Given the description of an element on the screen output the (x, y) to click on. 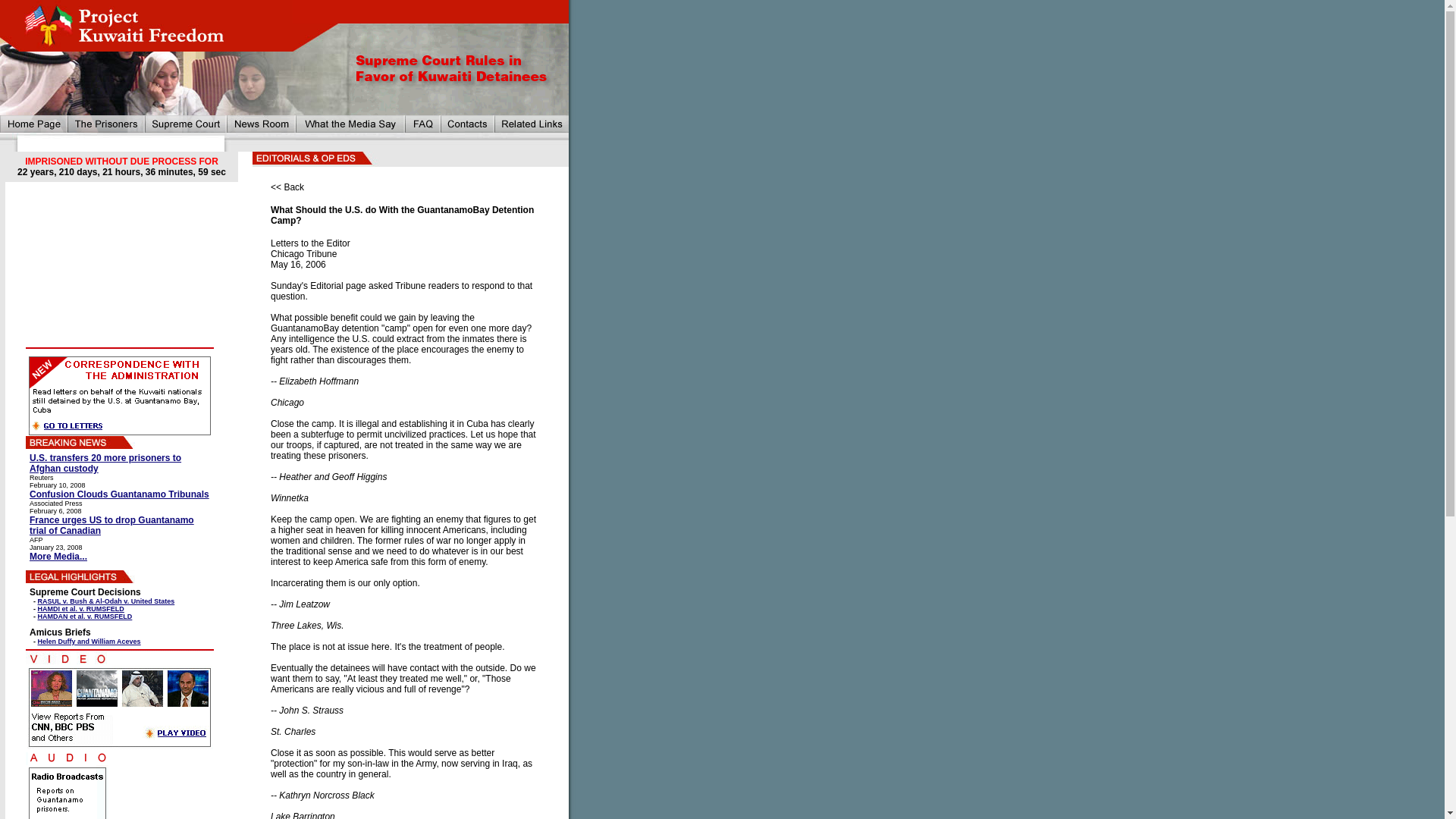
Helen Duffy and William Aceves (89, 641)
U.S. transfers 20 more prisoners to Afghan custody (104, 463)
France urges US to drop Guantanamo trial of Canadian (111, 525)
HAMDI et al. v. RUMSFELD (80, 608)
Back (293, 186)
More Media... (58, 556)
HAMDAN et al. v. RUMSFELD (84, 615)
Confusion Clouds Guantanamo Tribunals (119, 493)
